Given the description of an element on the screen output the (x, y) to click on. 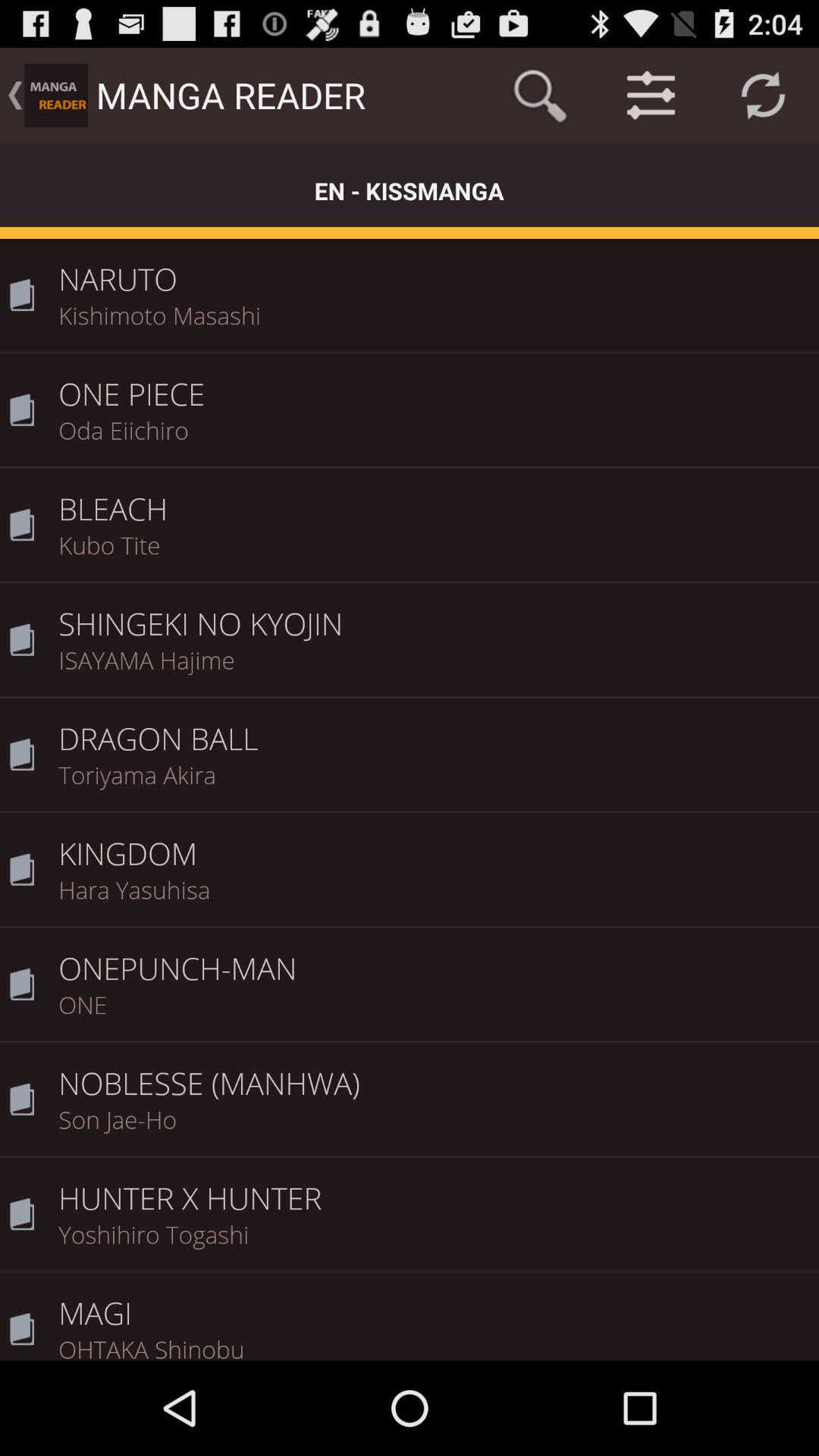
press onepunch-man icon (433, 958)
